Given the description of an element on the screen output the (x, y) to click on. 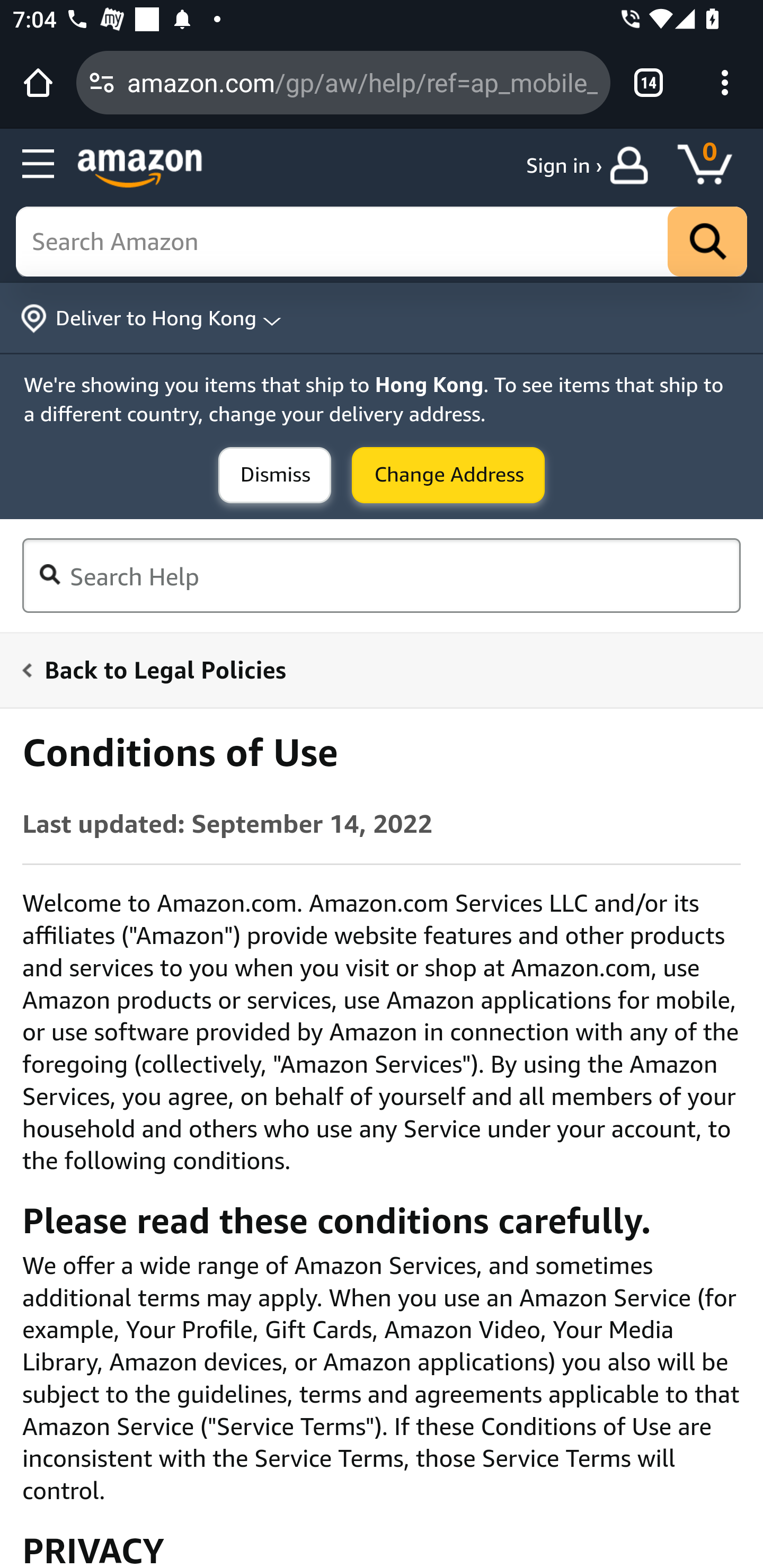
Open the home page (38, 82)
Connection is secure (101, 82)
Switch or close tabs (648, 82)
Customize and control Google Chrome (724, 82)
Open Menu (38, 164)
Sign in › (564, 165)
your account (633, 165)
Cart 0 (713, 165)
Amazon (139, 169)
Go (706, 240)
Submit (274, 474)
Submit (447, 474)
Back to Legal Policies (370, 668)
